Given the description of an element on the screen output the (x, y) to click on. 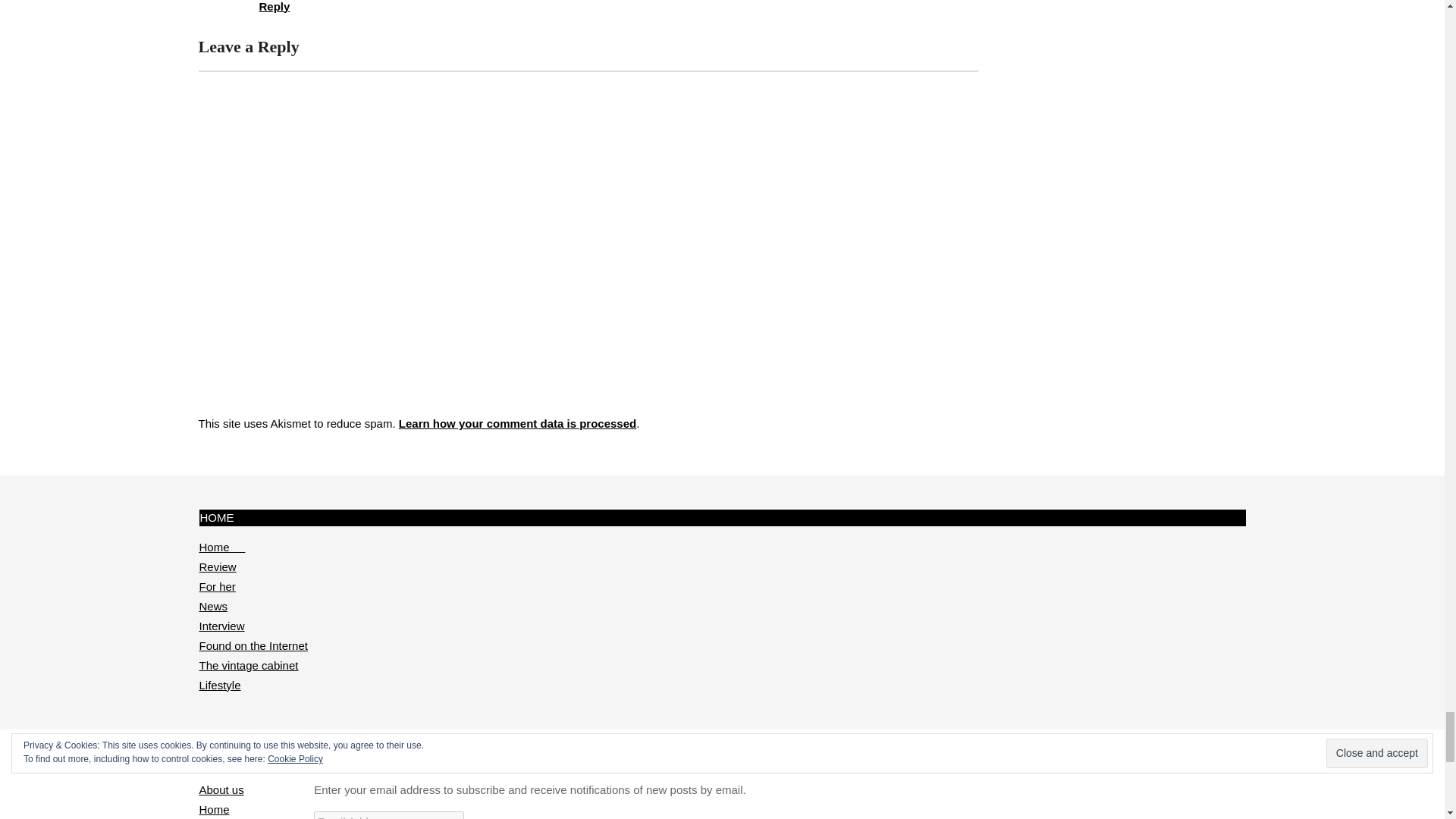
Learn how your comment data is processed (517, 422)
Reply (274, 6)
